Given the description of an element on the screen output the (x, y) to click on. 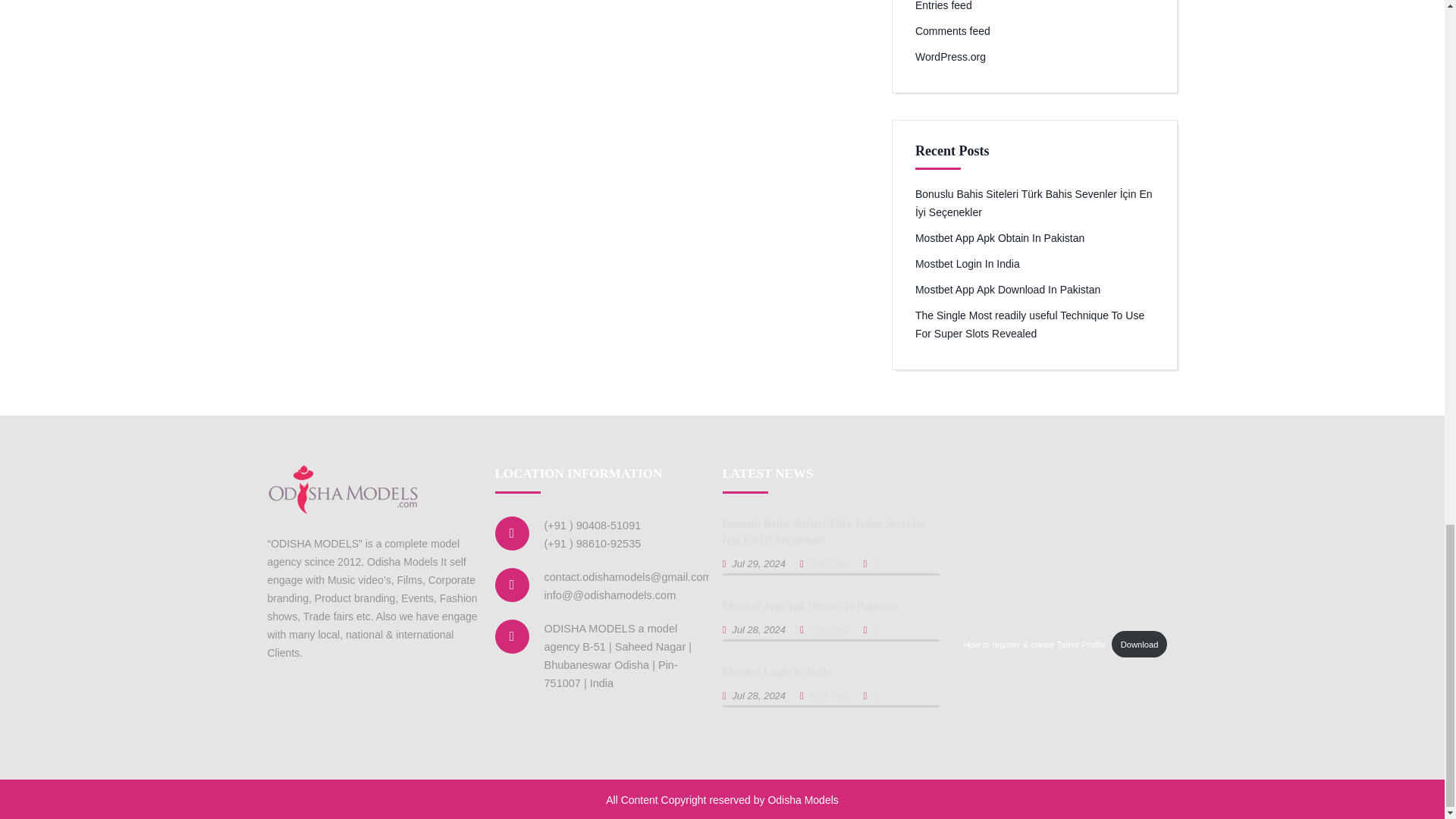
Mostbet App Apk Obtain In Pakistan (810, 605)
Posts by Test Test (828, 695)
Posts by Test Test (828, 563)
Posts by Test Test (828, 629)
Mostbet Login In India (776, 671)
